Given the description of an element on the screen output the (x, y) to click on. 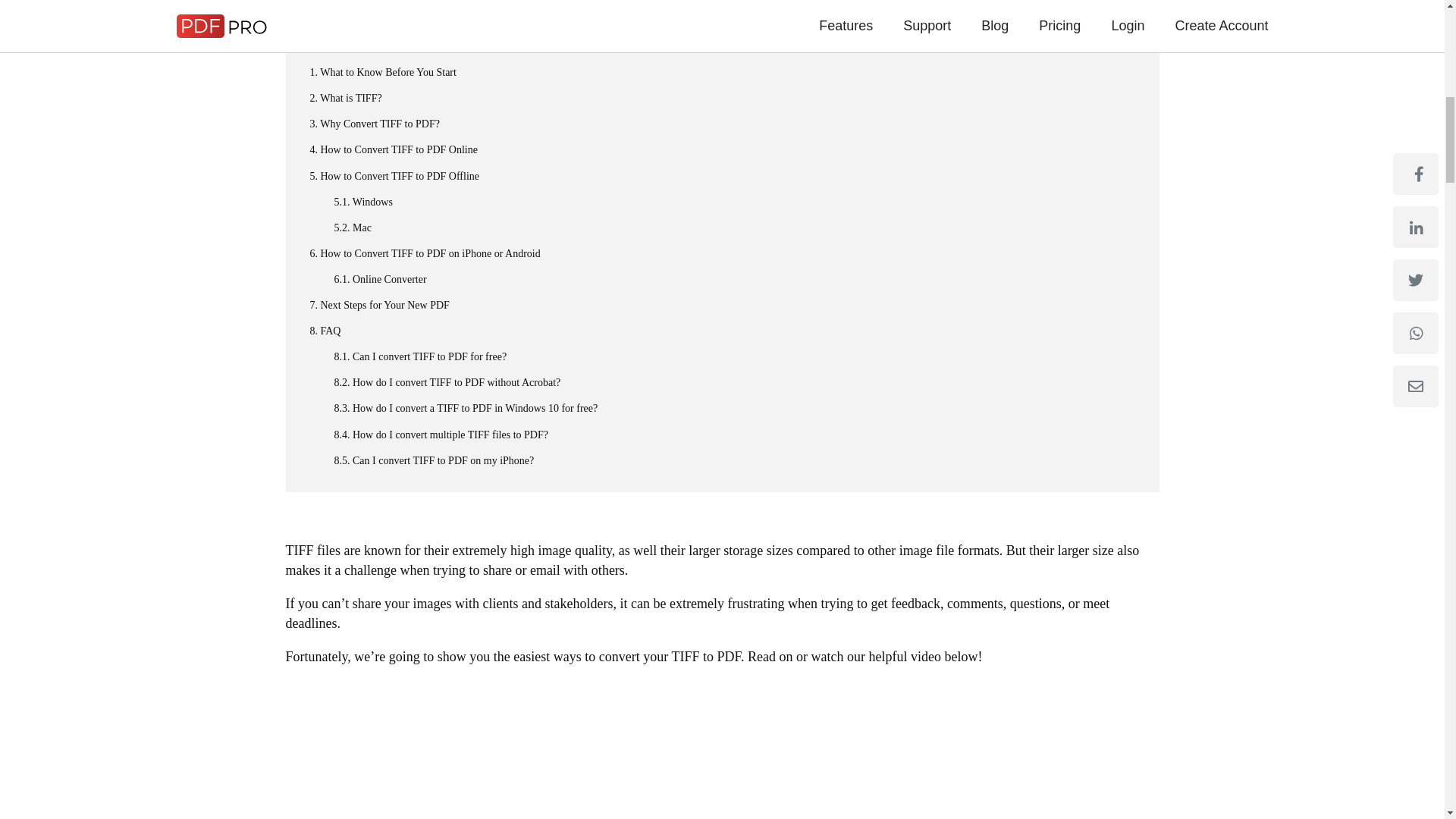
4. How to Convert TIFF to PDF Online (721, 149)
5. How to Convert TIFF to PDF Offline (721, 176)
6.1. Online Converter (721, 279)
5.2. Mac (721, 228)
5.1. Windows (721, 202)
7. Next Steps for Your New PDF (721, 305)
8.4. How do I convert multiple TIFF files to PDF? (721, 434)
8.3. How do I convert a TIFF to PDF in Windows 10 for free? (721, 408)
8.1. Can I convert TIFF to PDF for free? (721, 356)
2. What is TIFF?  (721, 98)
